Given the description of an element on the screen output the (x, y) to click on. 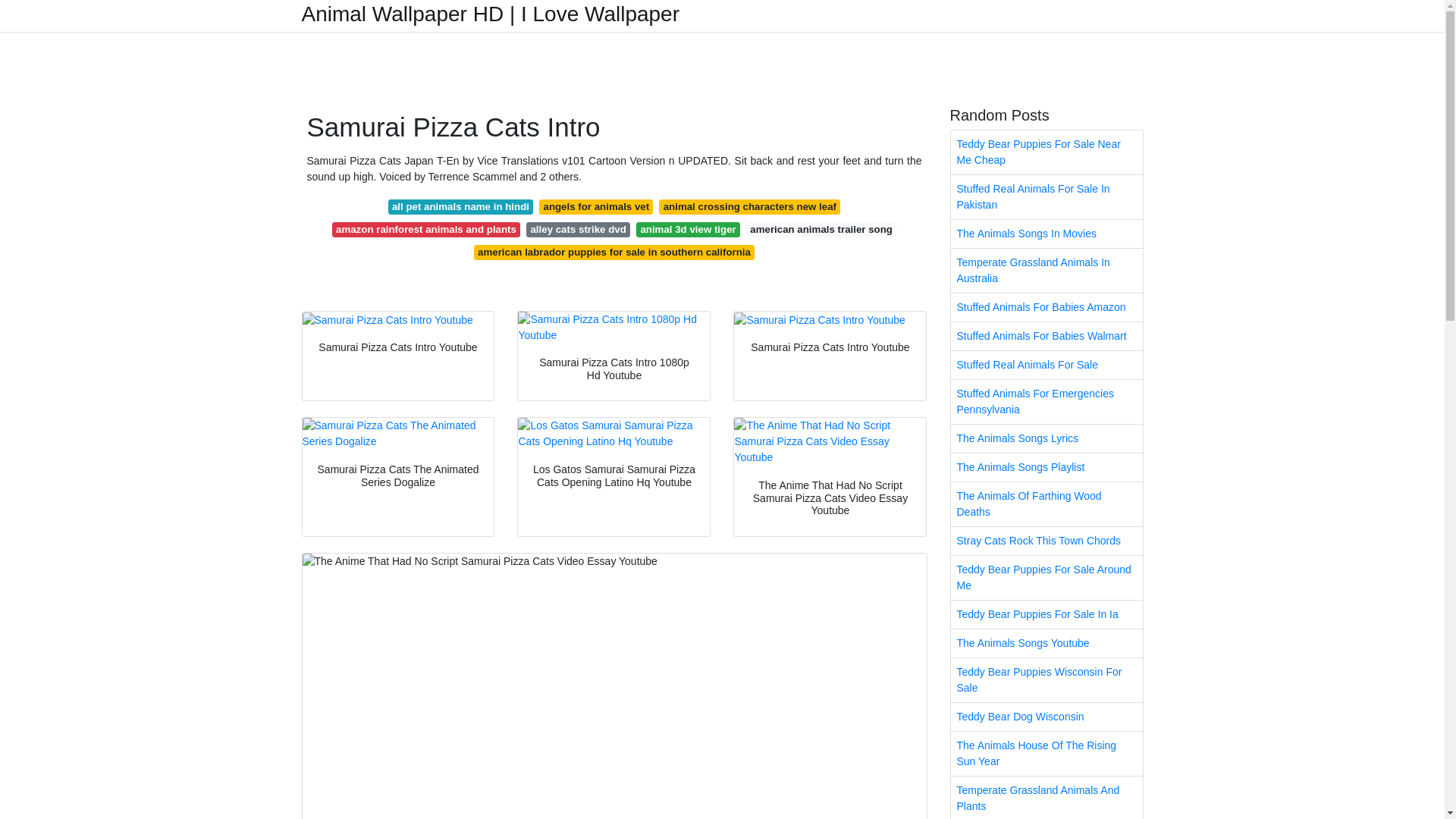
Stuffed Real Animals For Sale In Pakistan (1046, 197)
all pet animals name in hindi (461, 206)
animal crossing characters new leaf (749, 206)
angels for animals vet (595, 206)
Stuffed Real Animals For Sale (1046, 365)
animal 3d view tiger (687, 229)
amazon rainforest animals and plants (426, 229)
The Animals Songs Playlist (1046, 467)
The Animals Songs Lyrics (1046, 438)
american labrador puppies for sale in southern california (614, 252)
Stuffed Animals For Babies Amazon (1046, 307)
Stuffed Animals For Babies Walmart (1046, 336)
american animals trailer song (820, 229)
Temperate Grassland Animals In Australia (1046, 270)
Teddy Bear Puppies For Sale Near Me Cheap (1046, 152)
